Given the description of an element on the screen output the (x, y) to click on. 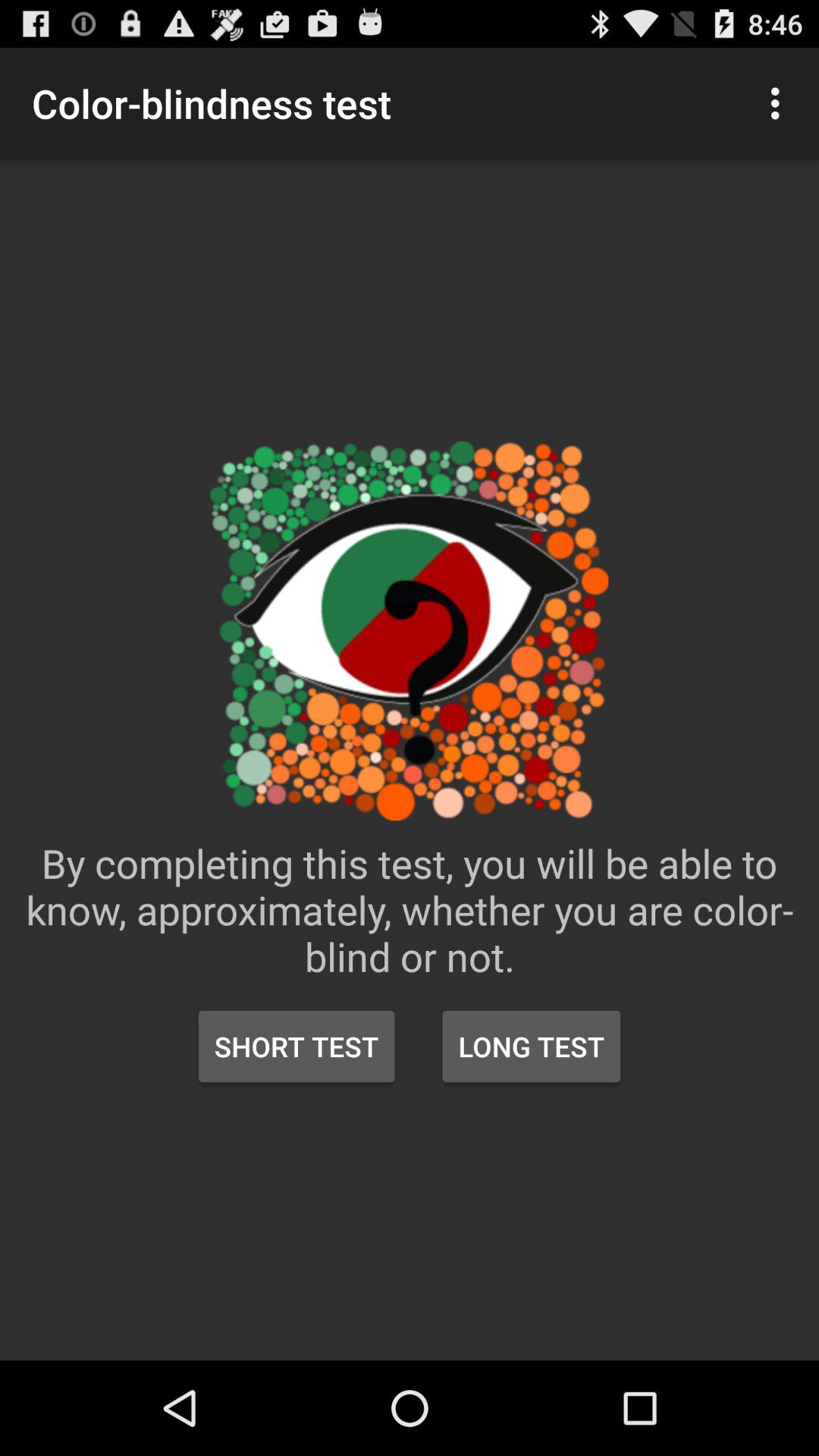
press item next to the short test icon (531, 1046)
